Given the description of an element on the screen output the (x, y) to click on. 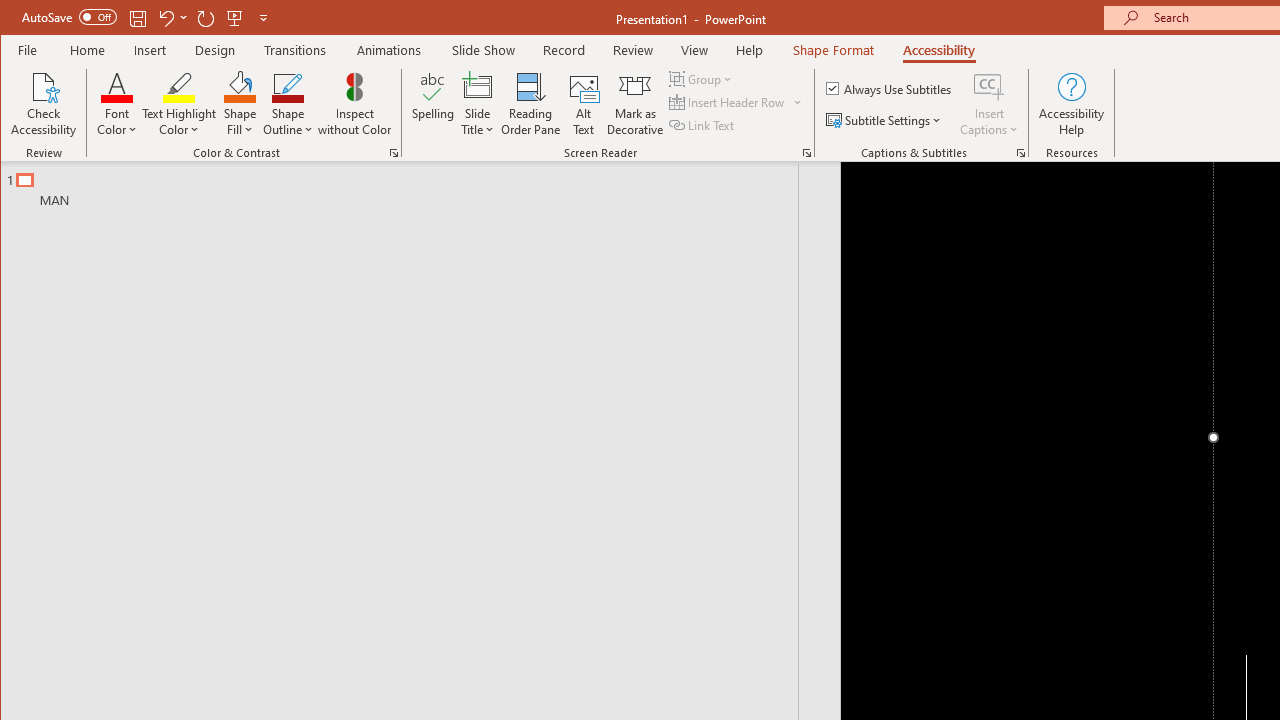
Text Highlight Color No Color (178, 86)
Insert Header Row (728, 101)
Subtitle Settings (885, 119)
Group (701, 78)
Insert Captions (989, 86)
Spelling... (432, 104)
